Given the description of an element on the screen output the (x, y) to click on. 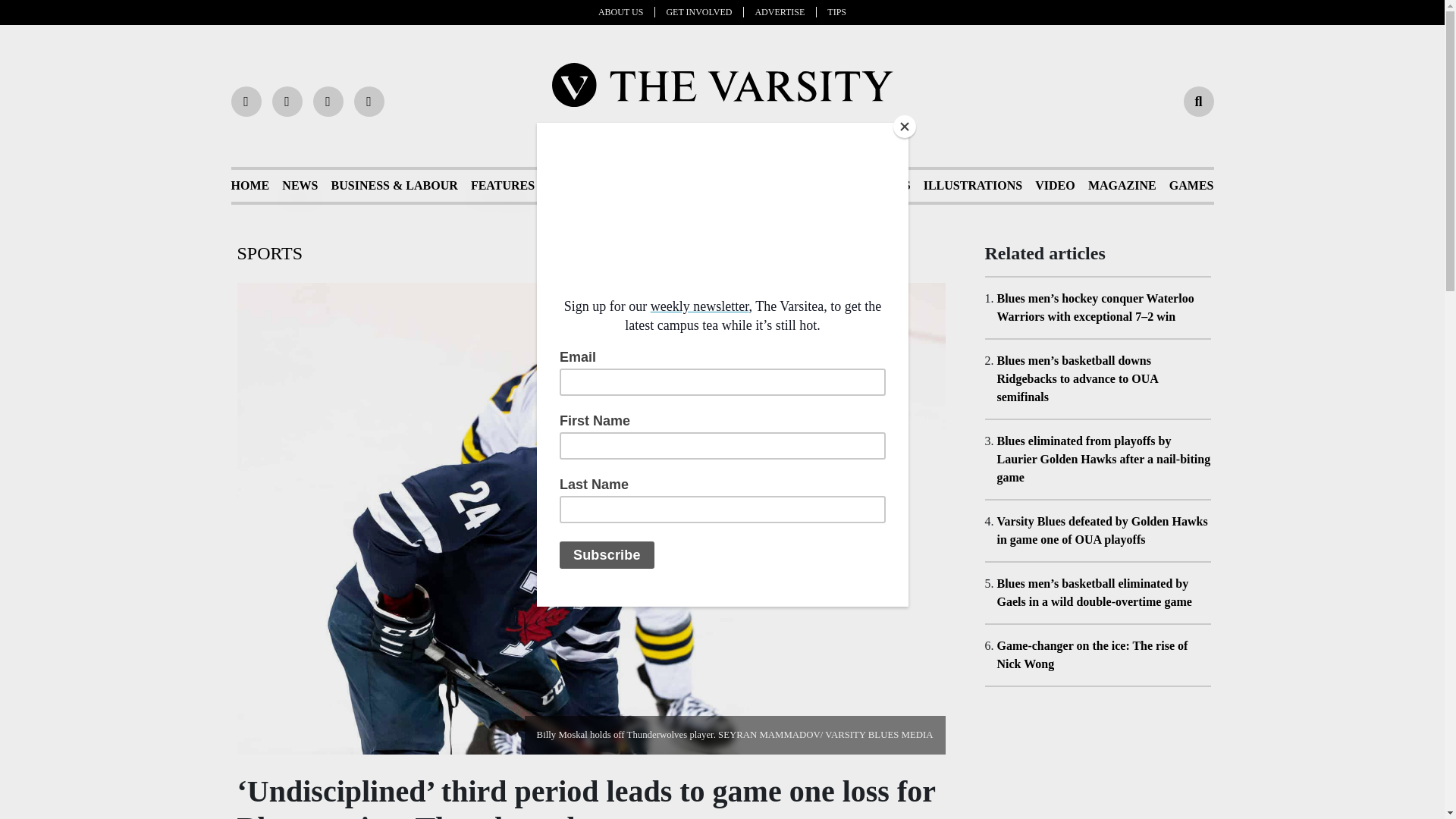
ADVERTISE (785, 11)
TIPS (836, 11)
GET INVOLVED (704, 11)
ABOUT US (626, 11)
